Given the description of an element on the screen output the (x, y) to click on. 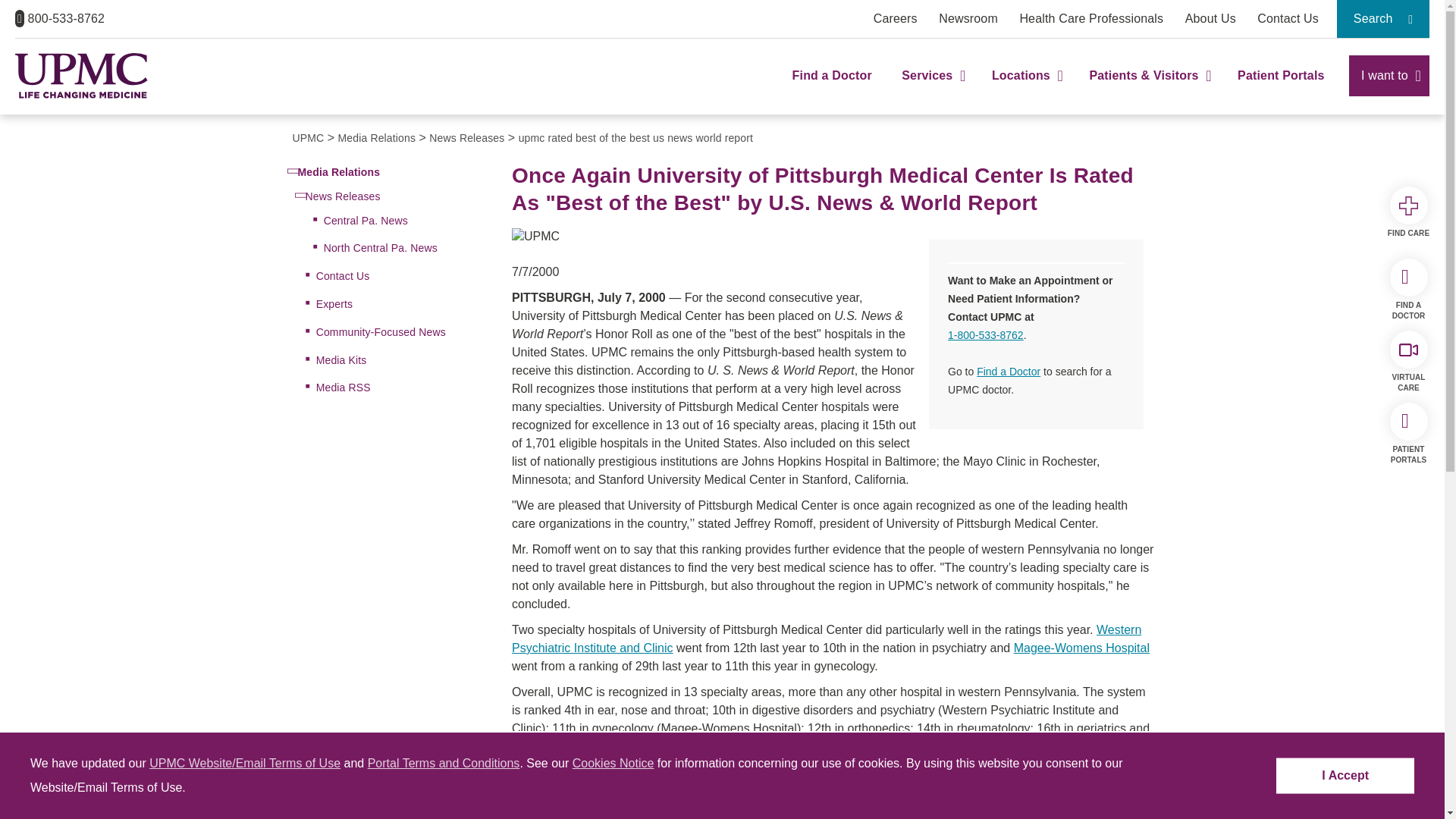
Newsroom (968, 18)
Careers (895, 18)
Learn more about careers and job openings at UPMC. (895, 18)
800-533-8762 (59, 18)
Contact Us (1288, 18)
Health Care Professionals (1091, 18)
Contact UPMC (1288, 18)
Cookies Notice (612, 762)
I Accept (1344, 775)
Portal Terms and Conditions (443, 762)
UPMC (81, 75)
Search (1382, 18)
Services (930, 89)
About Us (1210, 18)
Find a Doctor (832, 89)
